Given the description of an element on the screen output the (x, y) to click on. 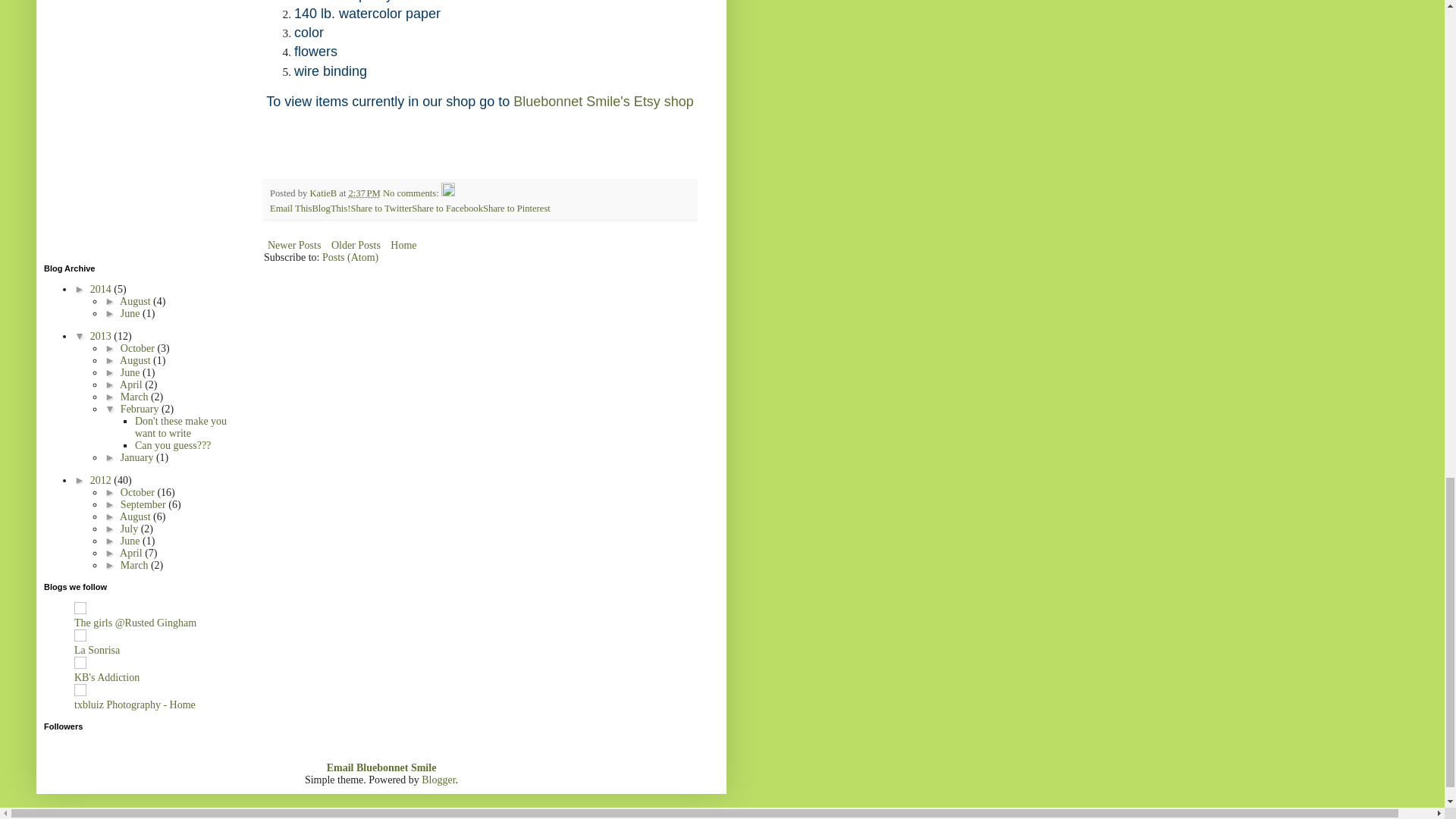
No comments: (411, 193)
Bluebonnet Smile's Etsy shop (603, 101)
2014 (102, 288)
Edit Post (447, 193)
permanent link (364, 193)
Share to Twitter (381, 208)
author profile (323, 193)
BlogThis! (330, 208)
Share to Facebook (447, 208)
Share to Facebook (447, 208)
Share to Pinterest (516, 208)
Newer Posts (293, 244)
KatieB (323, 193)
BlogThis! (330, 208)
Share to Twitter (381, 208)
